Given the description of an element on the screen output the (x, y) to click on. 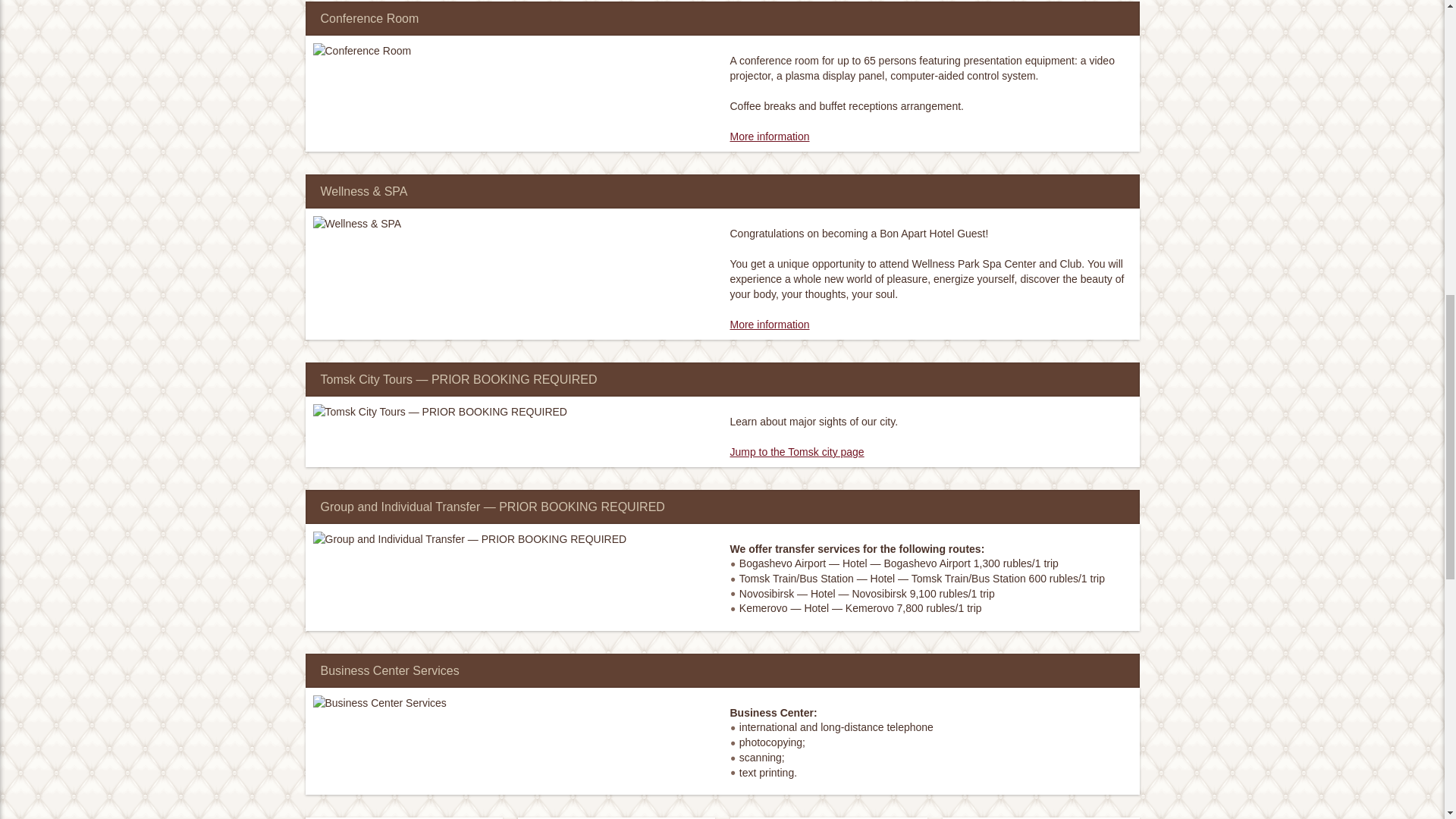
More information (769, 136)
More information (769, 136)
More information (769, 324)
Jump to the Tomsk city page (796, 451)
More information (769, 324)
